Given the description of an element on the screen output the (x, y) to click on. 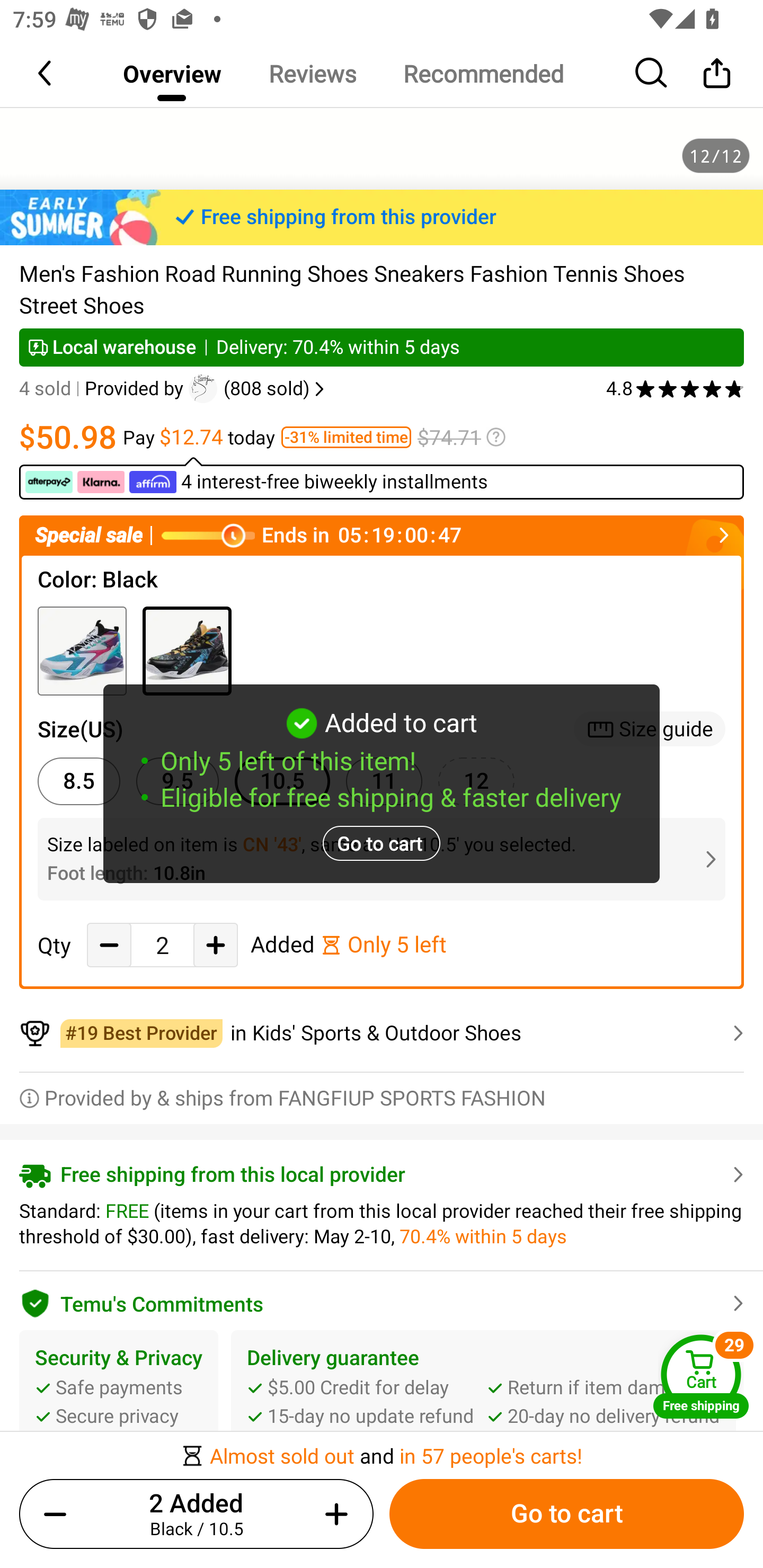
Overview (171, 72)
Reviews (311, 72)
Recommended (482, 72)
Back (46, 72)
Share (716, 72)
Free shipping from this provider (381, 216)
Local warehouse Delivery: 70.4% within 5 days (381, 346)
4 sold Provided by  (103, 388)
4.8 (674, 388)
￼ ￼ ￼ 4 interest-free biweekly installments (381, 478)
Special sale Ends in￼￼ (381, 535)
White Blue (81, 651)
Black (186, 651)
Decrease Quantity Button (108, 945)
Add Quantity button (215, 945)
2 (162, 945)
￼￼in Kids' Sports & Outdoor Shoes (381, 1032)
Temu's Commitments (381, 1300)
Security & Privacy Safe payments Secure privacy (118, 1386)
Cart Free shipping Cart (701, 1375)
￼￼Almost sold out and in 57 people's carts! (381, 1450)
Decrease Quantity Button (59, 1513)
Add Quantity button (332, 1513)
Go to cart (566, 1513)
